Given the description of an element on the screen output the (x, y) to click on. 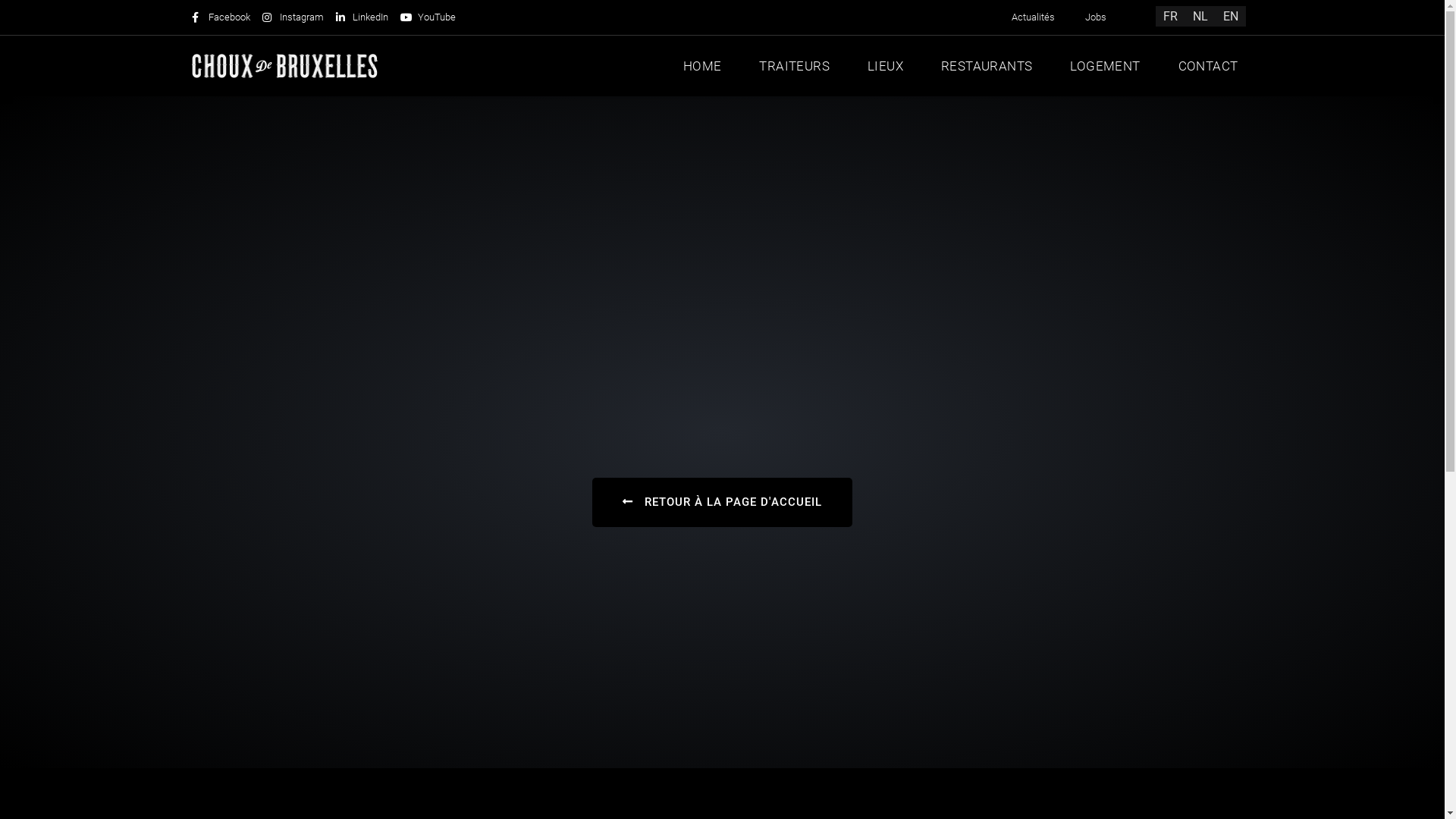
RESTAURANTS Element type: text (986, 65)
TRAITEURS Element type: text (793, 65)
Facebook Element type: text (220, 17)
LOGEMENT Element type: text (1104, 65)
YouTube Element type: text (427, 17)
Instagram Element type: text (292, 17)
Jobs Element type: text (1095, 17)
FR Element type: text (1170, 16)
LIEUX Element type: text (885, 65)
HOME Element type: text (702, 65)
NL Element type: text (1200, 16)
LinkedIn Element type: text (361, 17)
EN Element type: text (1230, 16)
CONTACT Element type: text (1208, 65)
